Given the description of an element on the screen output the (x, y) to click on. 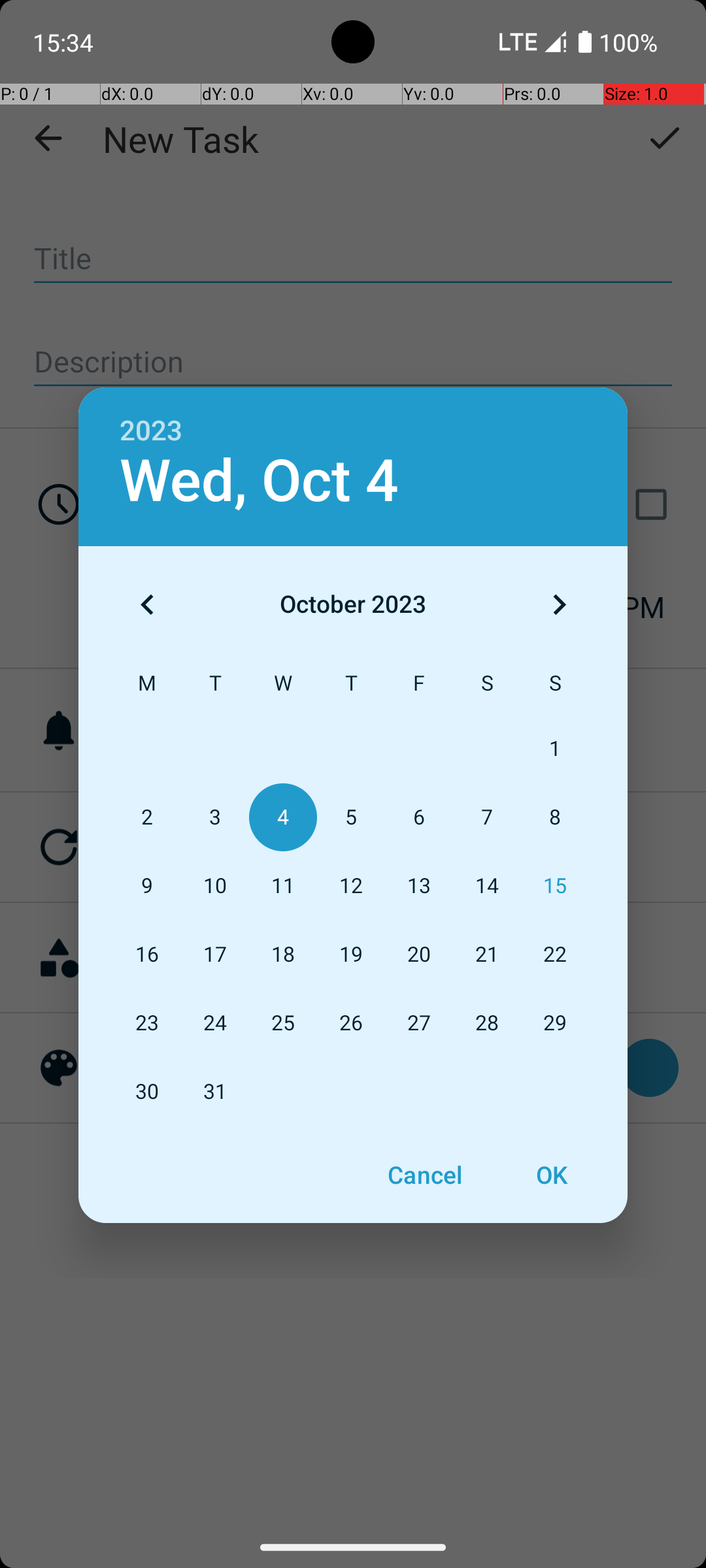
Wed, Oct 4 Element type: android.widget.TextView (258, 480)
